Given the description of an element on the screen output the (x, y) to click on. 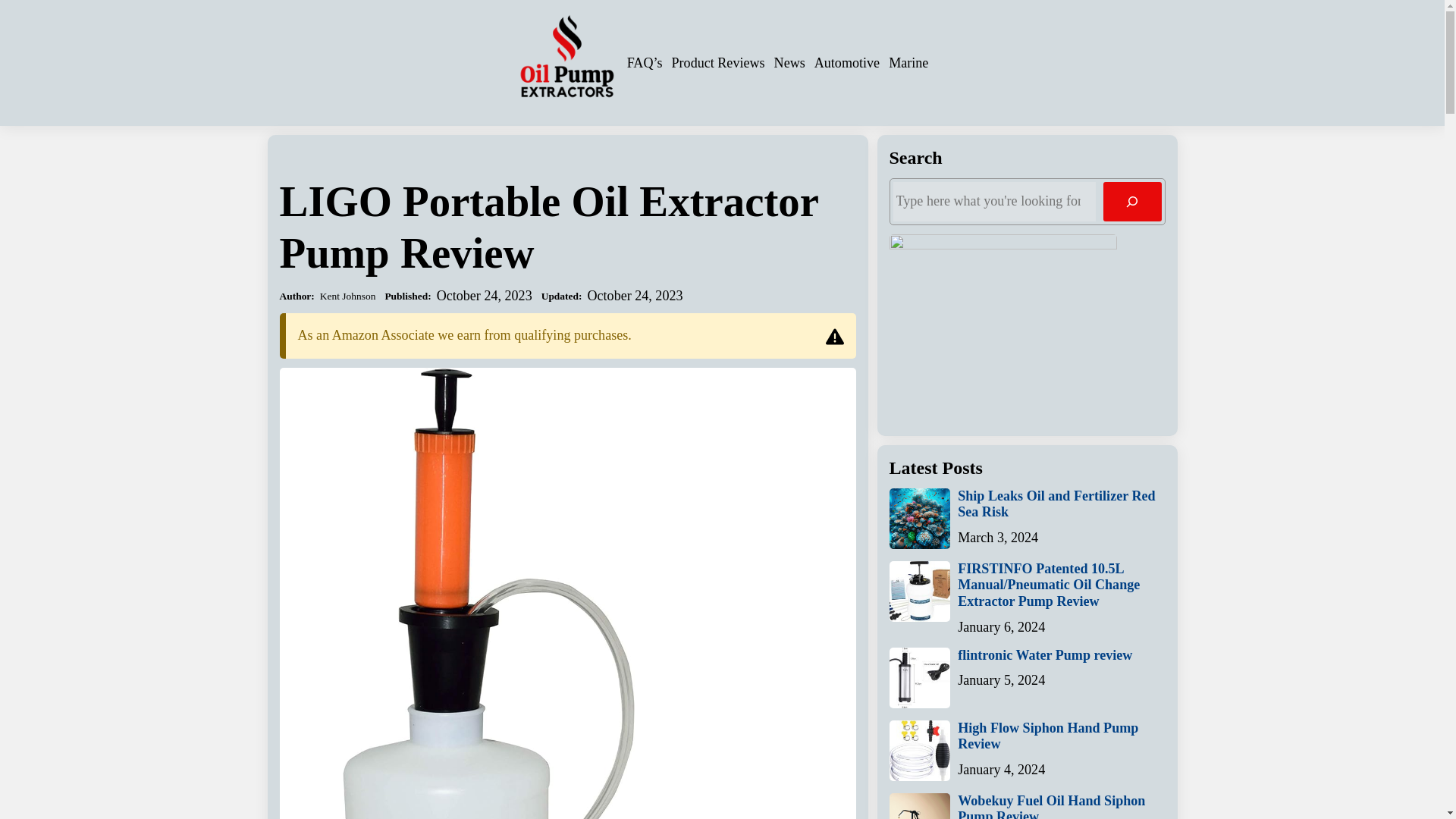
Product Reviews (718, 62)
Marine (908, 62)
News (789, 62)
Automotive (846, 62)
